Given the description of an element on the screen output the (x, y) to click on. 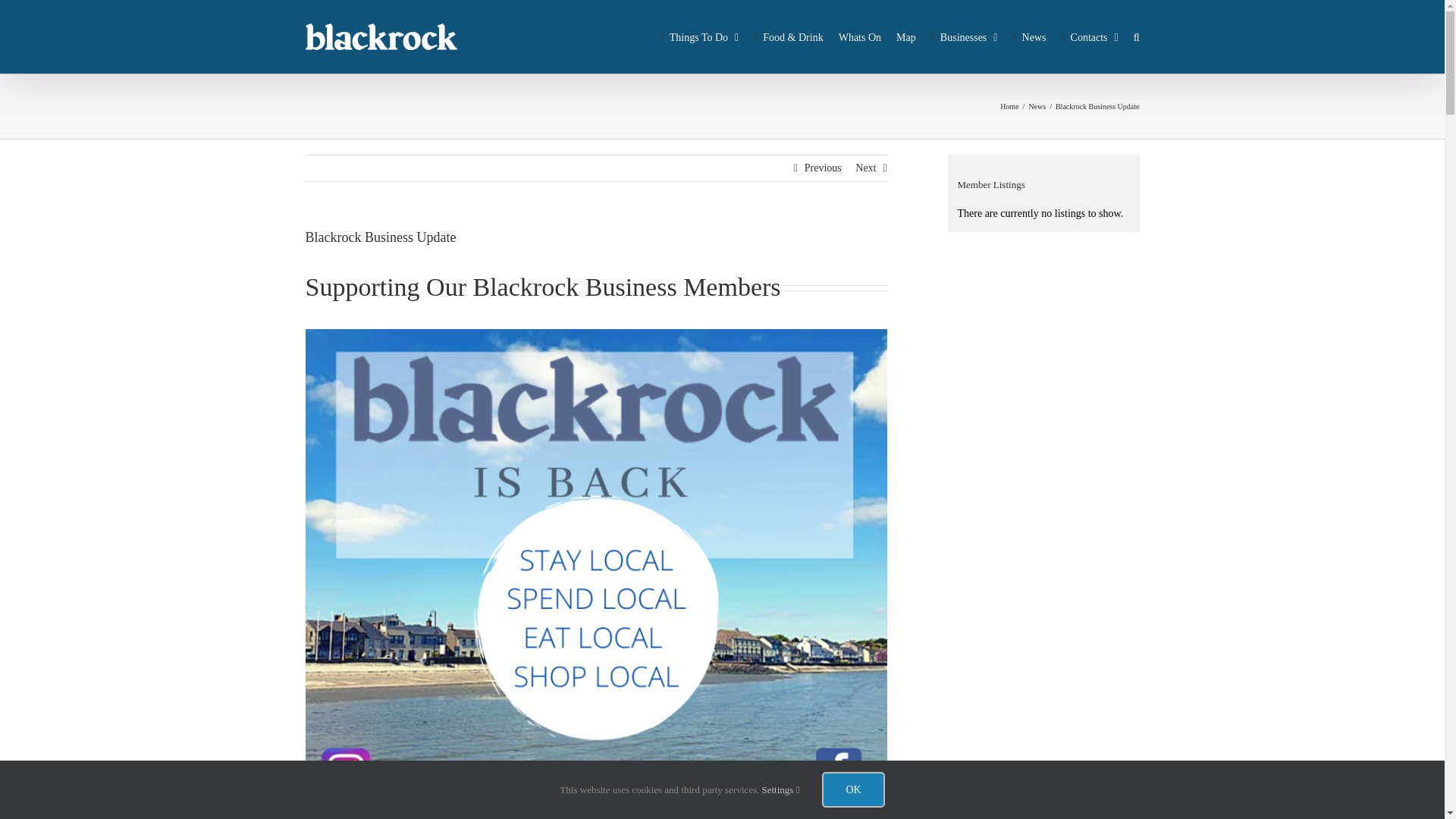
Things To Do (700, 36)
Businesses (964, 36)
